Given the description of an element on the screen output the (x, y) to click on. 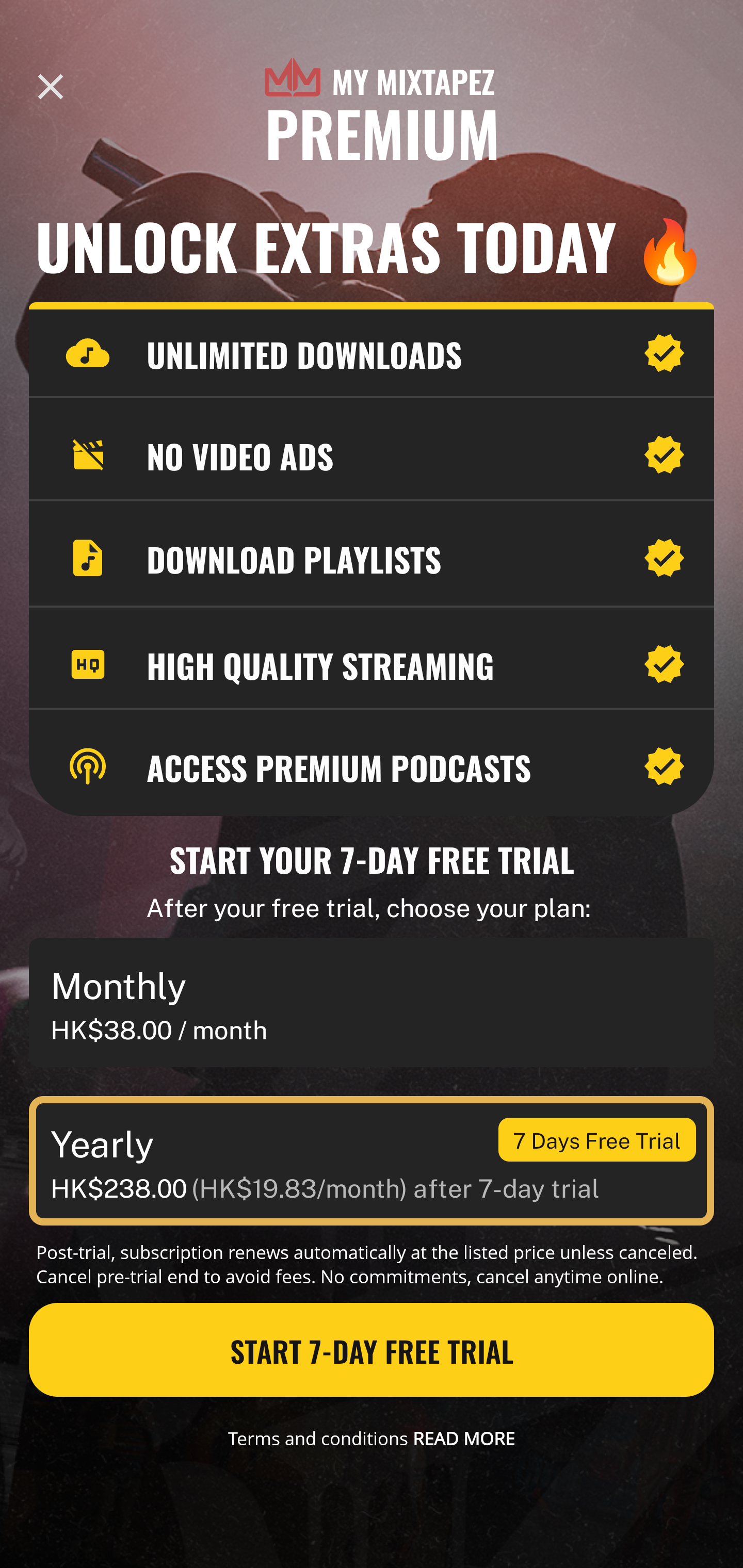
Description (50, 86)
Monthly HK$38.00 / month (371, 1002)
START 7-DAY FREE TRIAL (371, 1350)
Terms and conditions READ MORE (371, 1437)
